Given the description of an element on the screen output the (x, y) to click on. 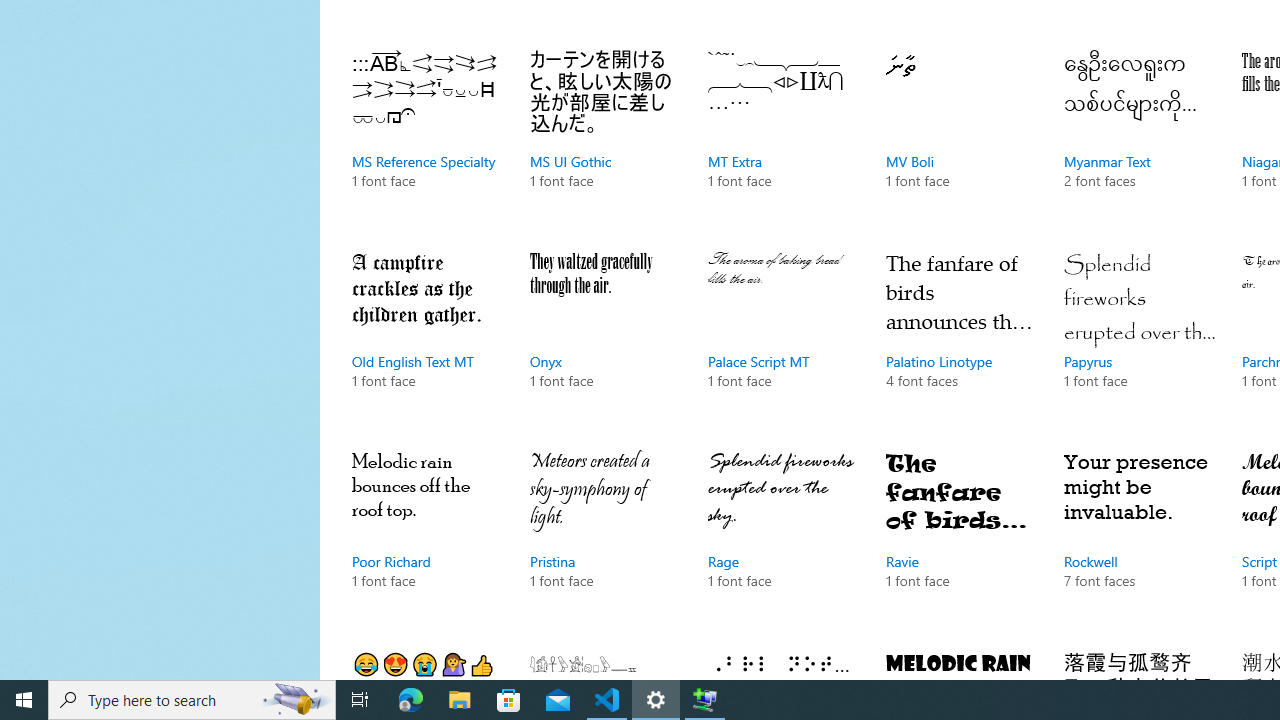
MS Reference Specialty, 1 font face (426, 139)
Palatino Linotype, 4 font faces (961, 339)
SimHei, 1 font face (1138, 659)
Segoe UI Symbol, 1 font face (783, 659)
Rockwell, 7 font faces (1138, 539)
Poor Richard, 1 font face (426, 539)
MV Boli, 1 font face (961, 139)
Showcard Gothic, 1 font face (961, 659)
